Given the description of an element on the screen output the (x, y) to click on. 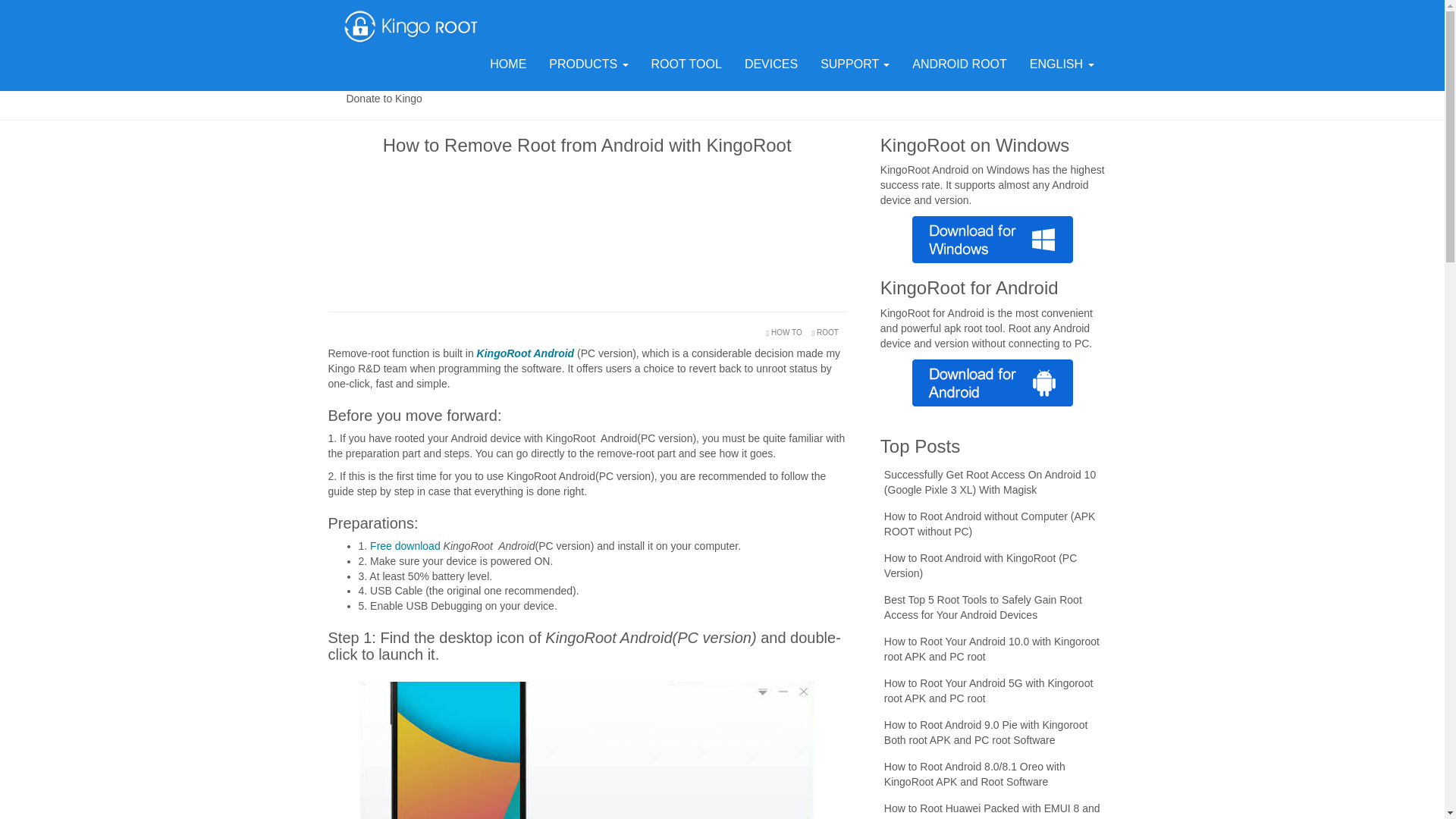
KingoRoot for Android (410, 26)
HOME (508, 64)
SUPPORT (855, 64)
F.A.Q. (384, 73)
ANDROID ROOT (959, 64)
Troubleshoot (789, 73)
Contact Support (1059, 73)
Advertisement (586, 229)
Rooted Apps (654, 73)
KingoRoot recommends other root tool for Android (686, 64)
